Given the description of an element on the screen output the (x, y) to click on. 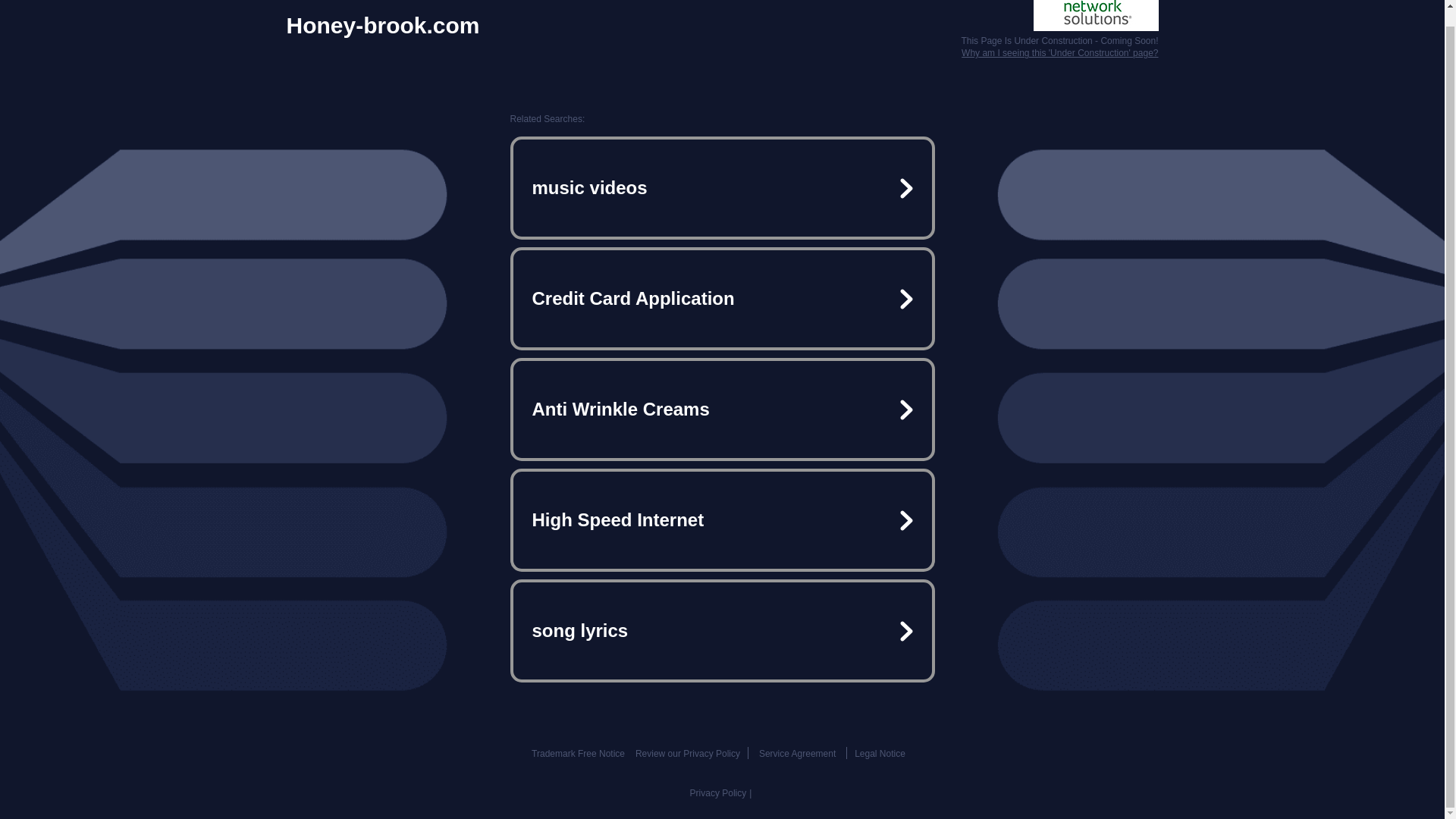
Legal Notice (879, 753)
Service Agreement (796, 753)
music videos (721, 187)
Anti Wrinkle Creams (721, 409)
Why am I seeing this 'Under Construction' page? (1058, 52)
Credit Card Application (721, 298)
Privacy Policy (718, 792)
High Speed Internet (721, 519)
High Speed Internet (721, 519)
Review our Privacy Policy (686, 753)
